Given the description of an element on the screen output the (x, y) to click on. 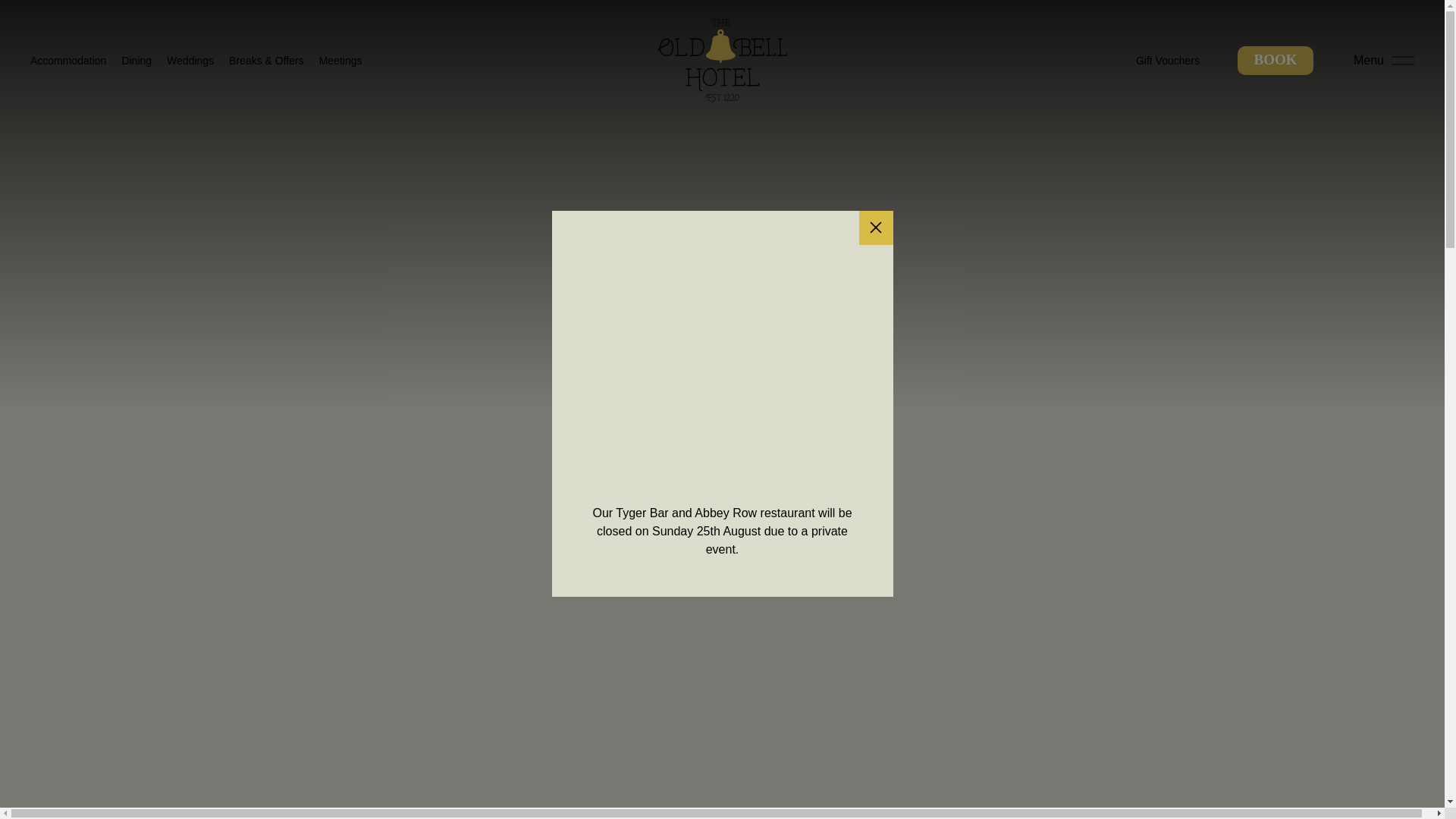
Dining (135, 60)
Meetings (340, 60)
BOOK (1275, 60)
Accommodation (68, 60)
Gift Vouchers (1167, 60)
Menu (1383, 60)
Weddings (190, 60)
